Given the description of an element on the screen output the (x, y) to click on. 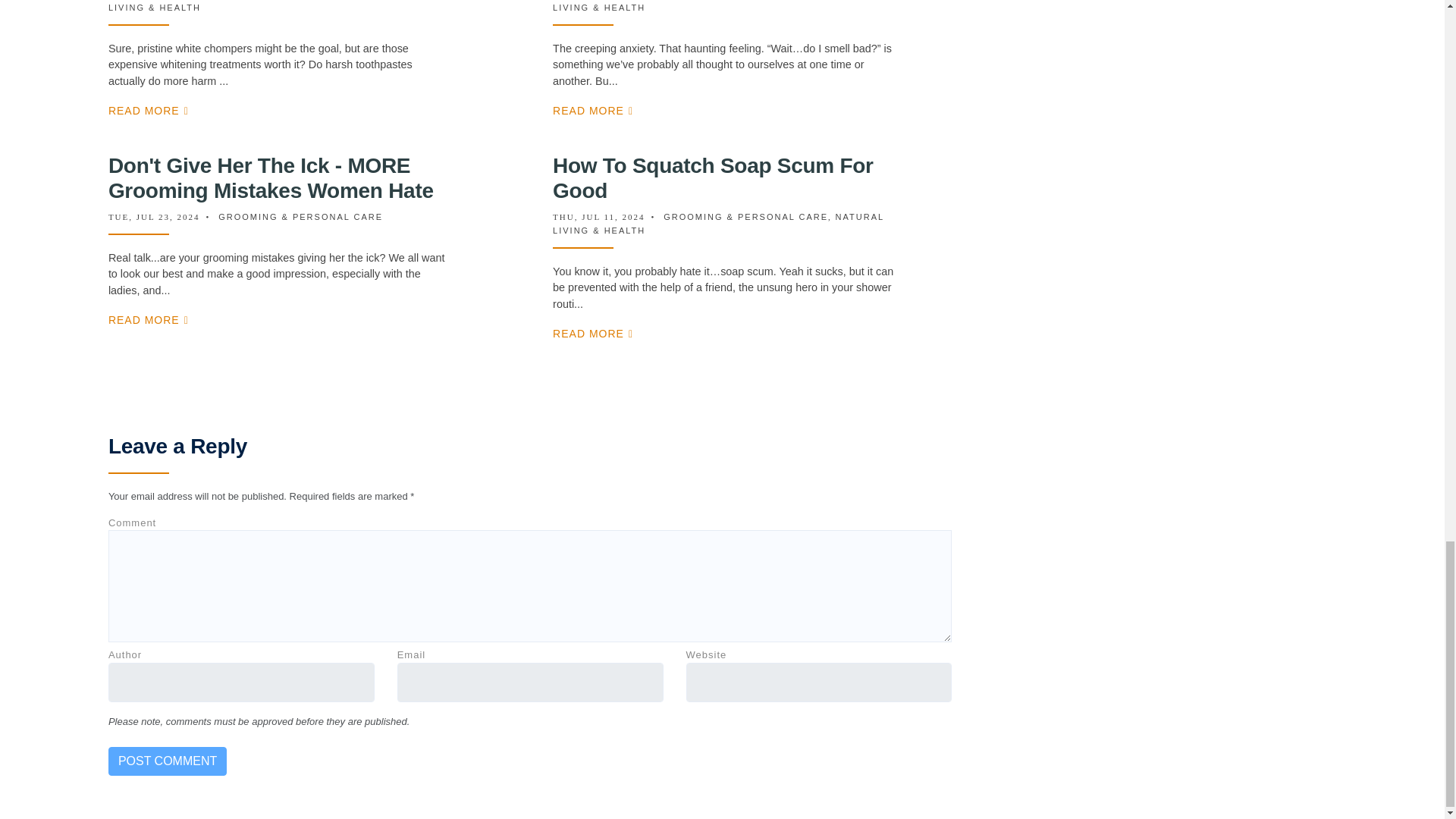
READ MORE (593, 110)
POST COMMENT (167, 760)
READ MORE (148, 110)
